Given the description of an element on the screen output the (x, y) to click on. 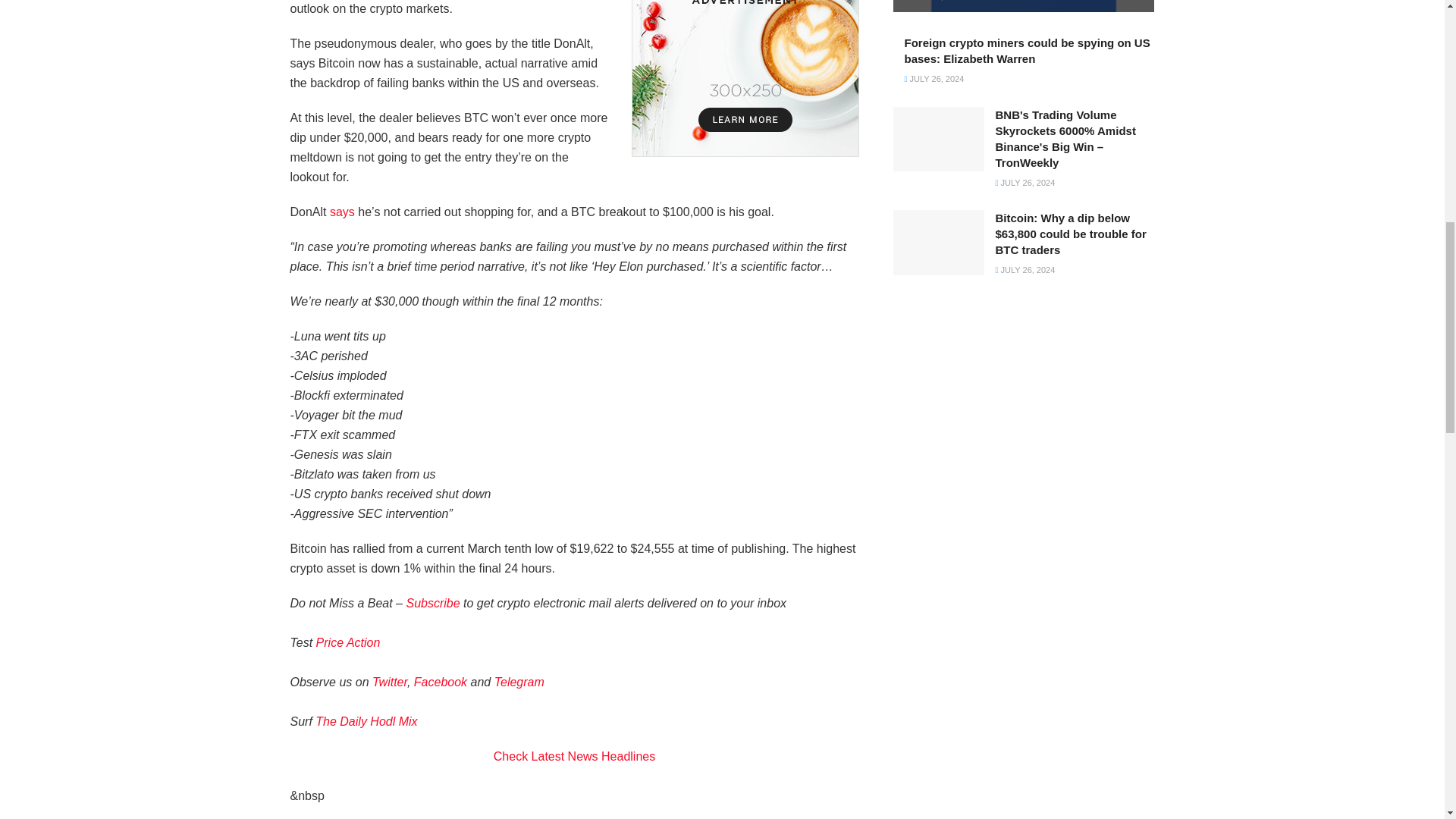
Subscribe (433, 603)
Price Action (347, 642)
says (342, 211)
